Given the description of an element on the screen output the (x, y) to click on. 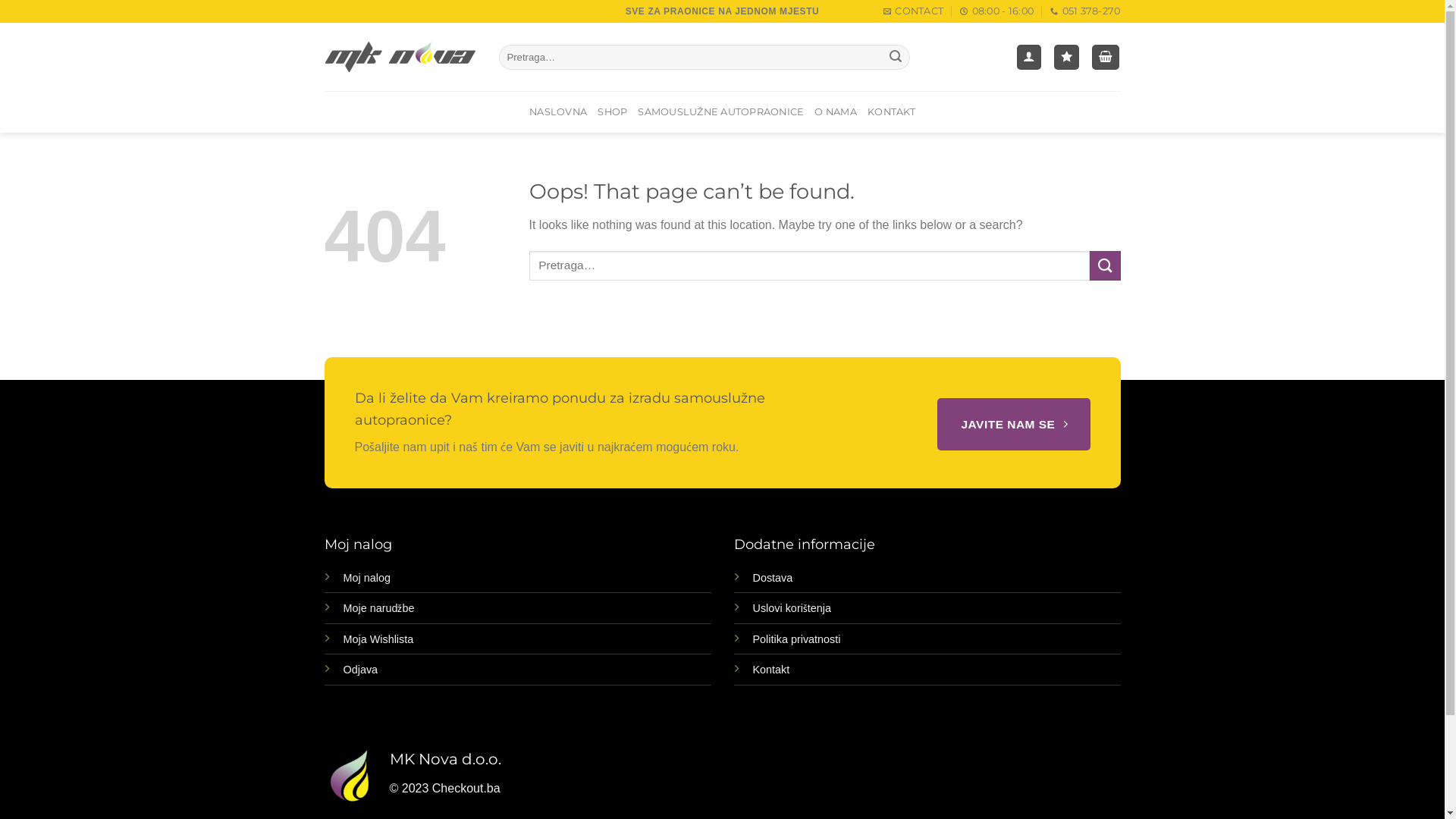
O NAMA Element type: text (835, 111)
Kontakt Element type: text (770, 669)
Politika privatnosti Element type: text (796, 639)
Odjava Element type: text (359, 669)
NASLOVNA Element type: text (557, 111)
051 378-270 Element type: text (1085, 11)
Dostava Element type: text (772, 577)
Checkout.ba Element type: text (466, 787)
08:00 - 16:00 Element type: text (996, 11)
JAVITE NAM SE Element type: text (1013, 424)
Moja Wishlista Element type: text (377, 639)
KONTAKT Element type: text (891, 111)
Moj nalog Element type: text (365, 577)
SHOP Element type: text (612, 111)
CONTACT Element type: text (913, 11)
